Given the description of an element on the screen output the (x, y) to click on. 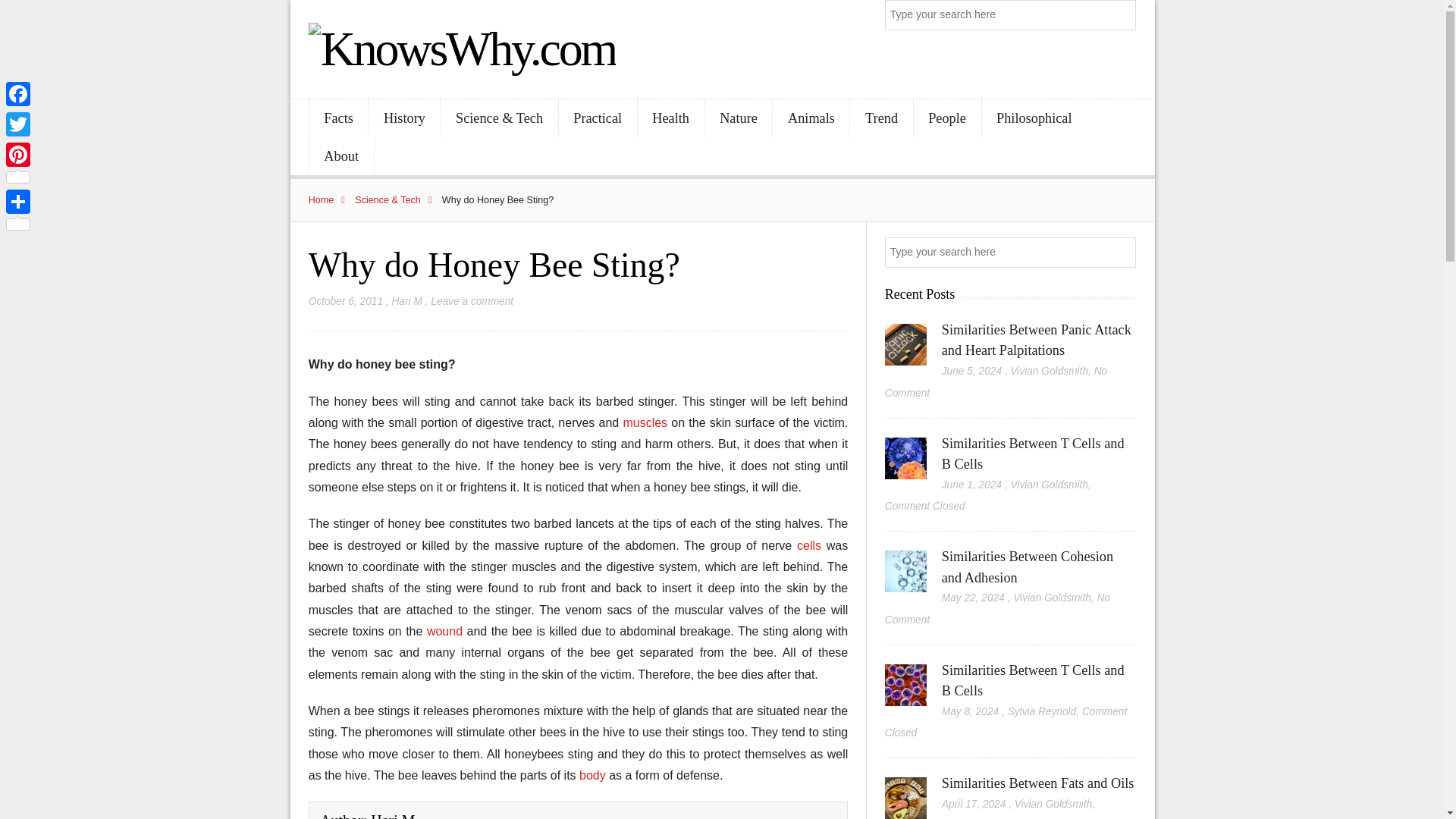
cells (811, 545)
History (403, 118)
Practical (598, 118)
WHY DO CELLS DIVIDE (811, 545)
Search (1123, 15)
Animals (810, 118)
WHY IS BODY COMPOSITION IMPORTANT (593, 775)
muscles (647, 422)
Health (670, 118)
WHY DO WOUND SWELL (446, 631)
